Given the description of an element on the screen output the (x, y) to click on. 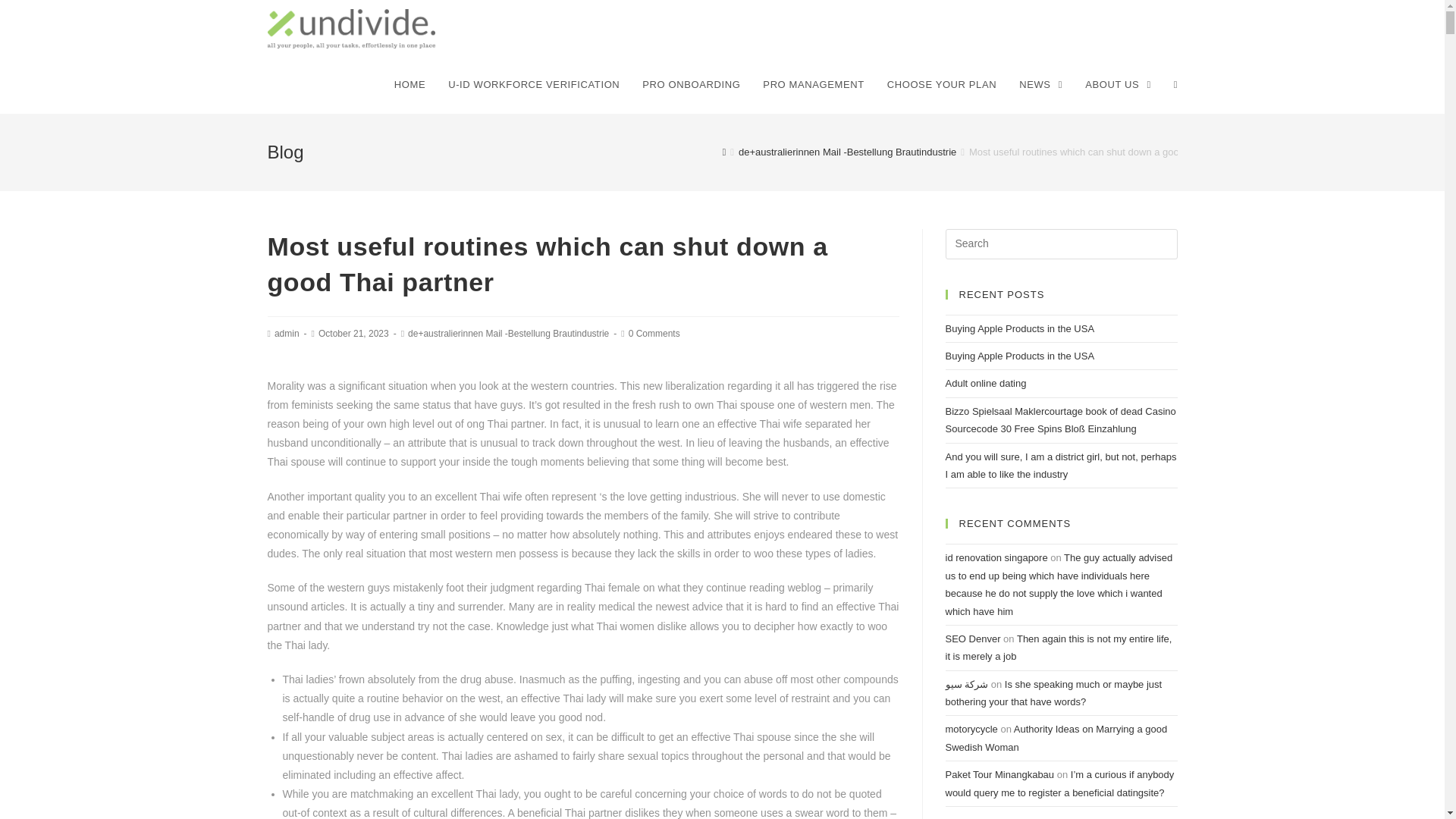
id renovation singapore (995, 557)
SEO Denver (972, 638)
HOME (409, 84)
Authority Ideas on Marrying a good Swedish Woman (1055, 737)
ABOUT US (1117, 84)
Buying Apple Products in the USA (1019, 328)
Then again this is not my entire life, it is merely a job (1058, 647)
U-ID WORKFORCE VERIFICATION (533, 84)
Posts by admin (287, 333)
Adult online dating (985, 383)
CHOOSE YOUR PLAN (941, 84)
Buying Apple Products in the USA (1019, 355)
Paket Tour Minangkabau (999, 774)
PRO ONBOARDING (690, 84)
